Given the description of an element on the screen output the (x, y) to click on. 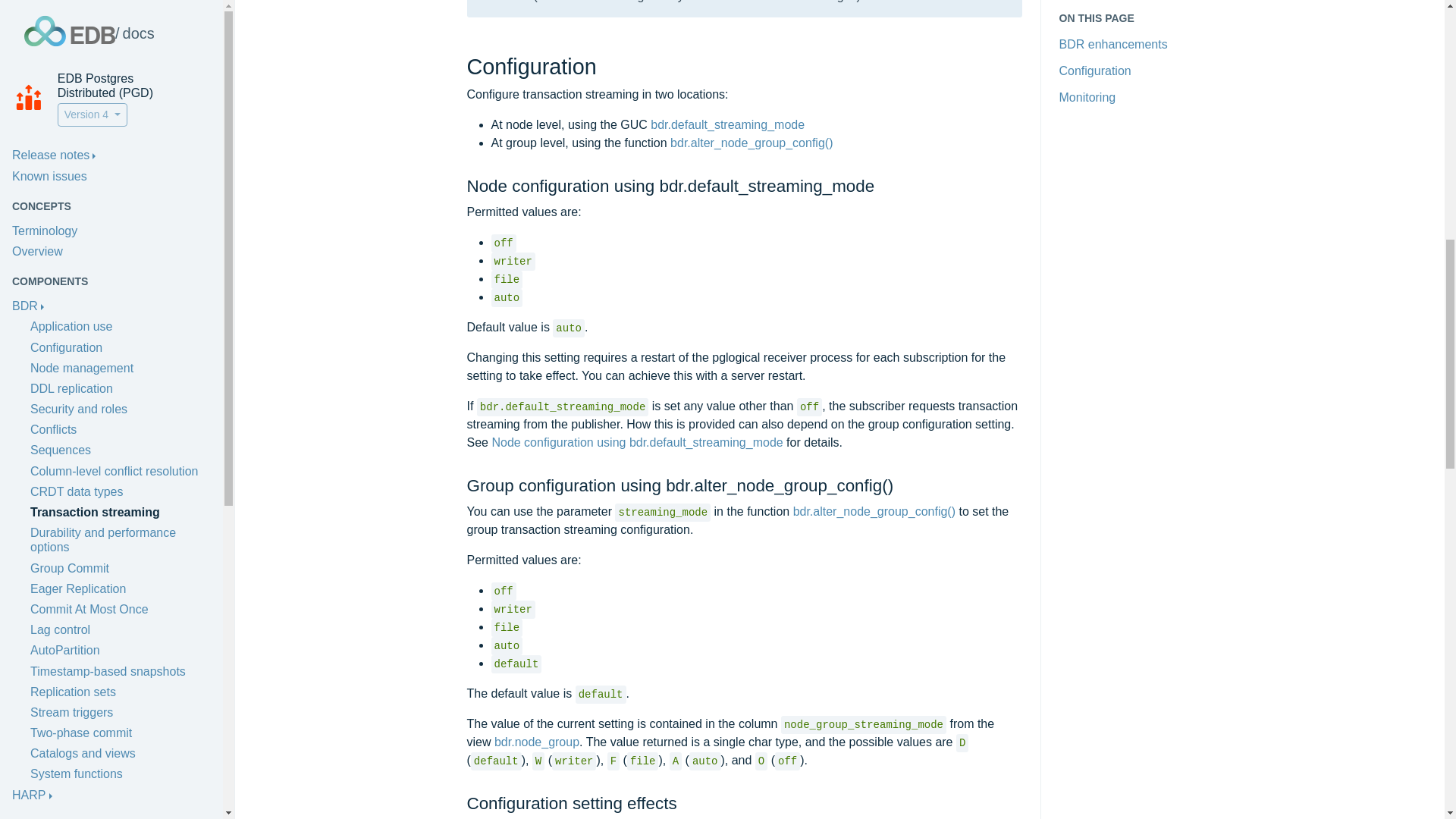
Backup and recovery (68, 242)
Choosing a Postgres distribution (98, 50)
on (106, 459)
Upgrading (42, 188)
Deployment options (68, 168)
Other considerations (67, 91)
Limitations (40, 113)
Choosing your architecture (87, 30)
Toggle Color Theme (111, 460)
Choosing durability (63, 71)
